Given the description of an element on the screen output the (x, y) to click on. 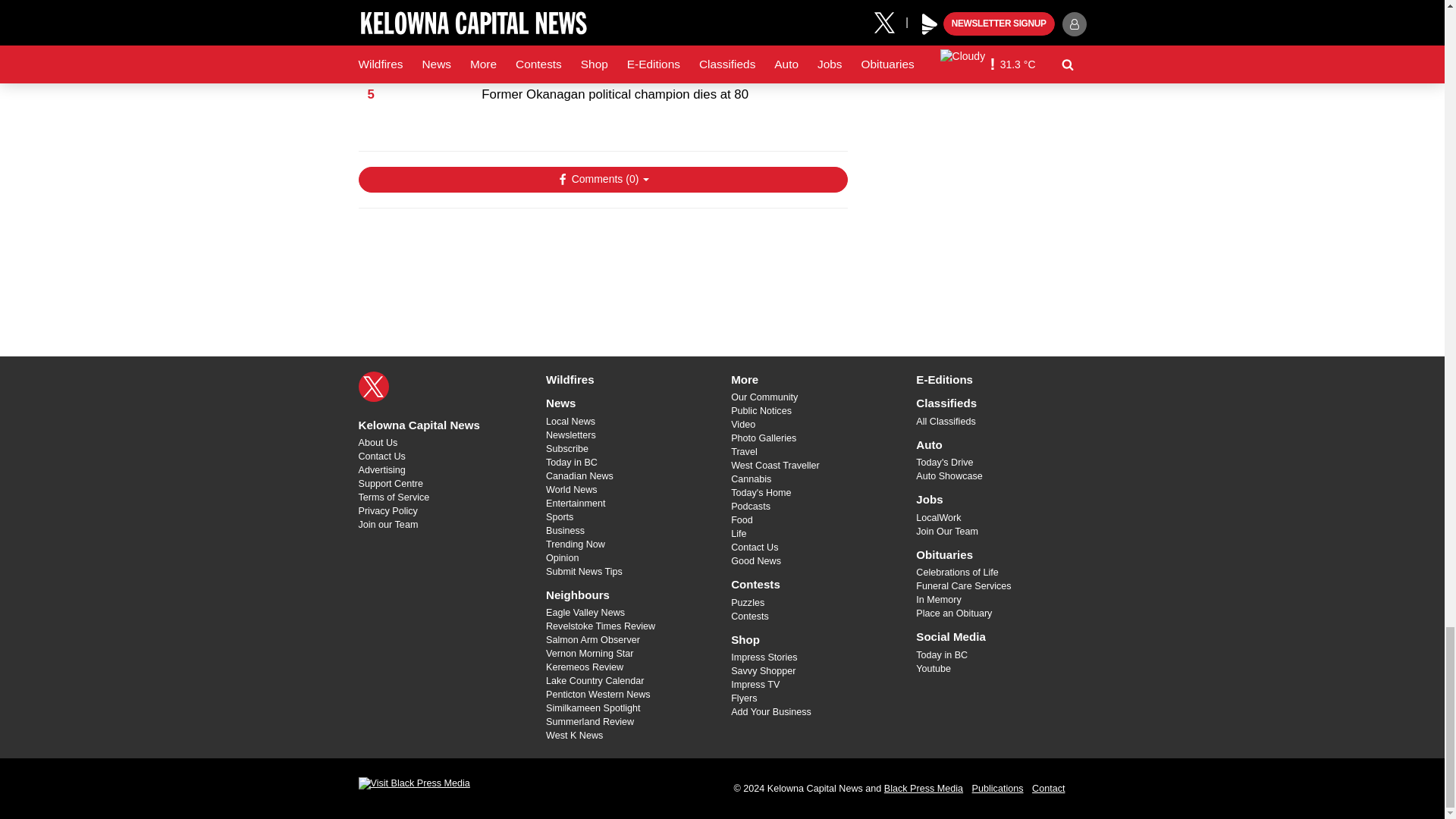
X (373, 386)
Show Comments (602, 179)
